Given the description of an element on the screen output the (x, y) to click on. 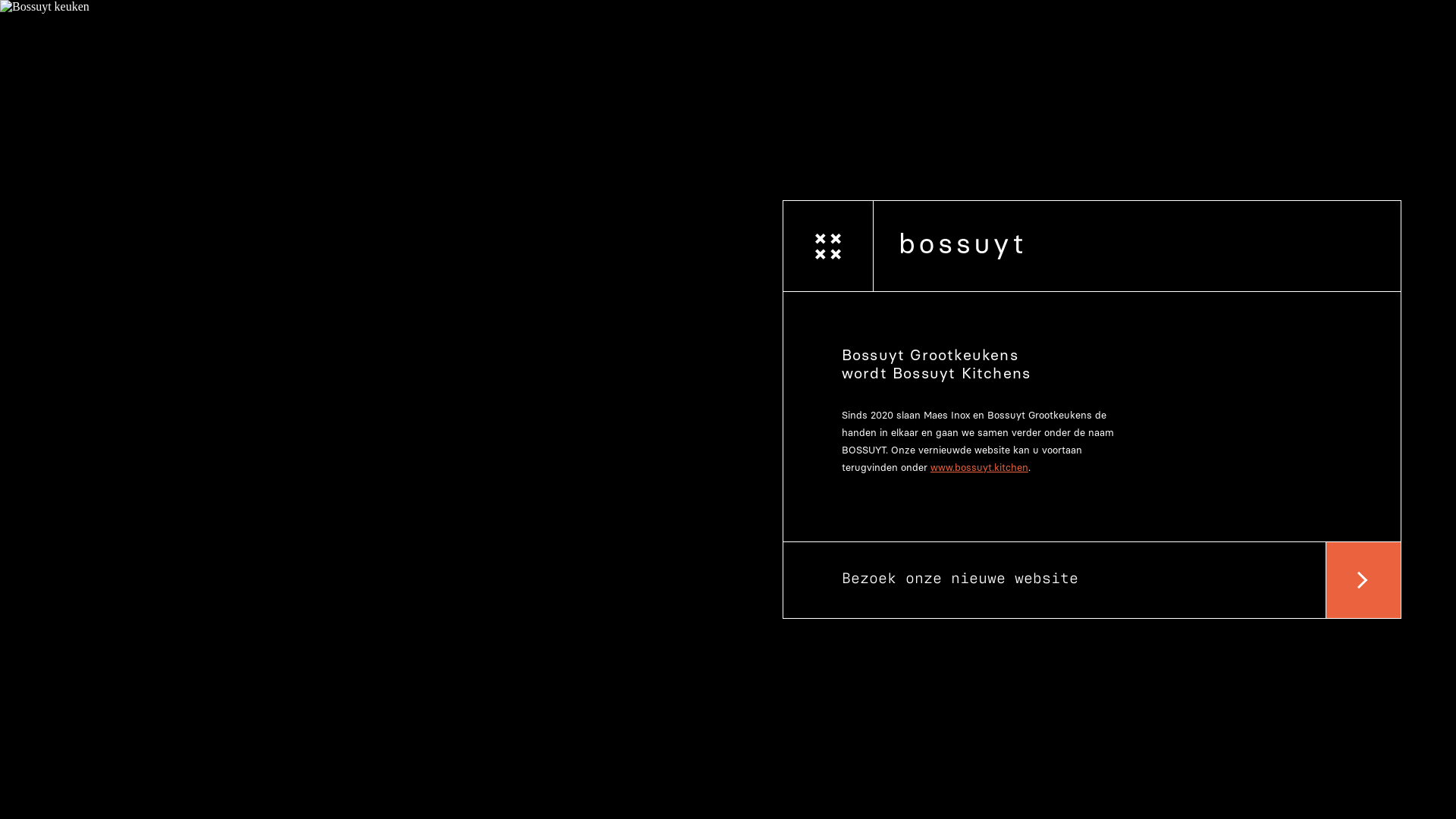
Bezoek onze nieuwe website
  Element type: text (1092, 580)
www.bossuyt.kitchen Element type: text (979, 466)
